Given the description of an element on the screen output the (x, y) to click on. 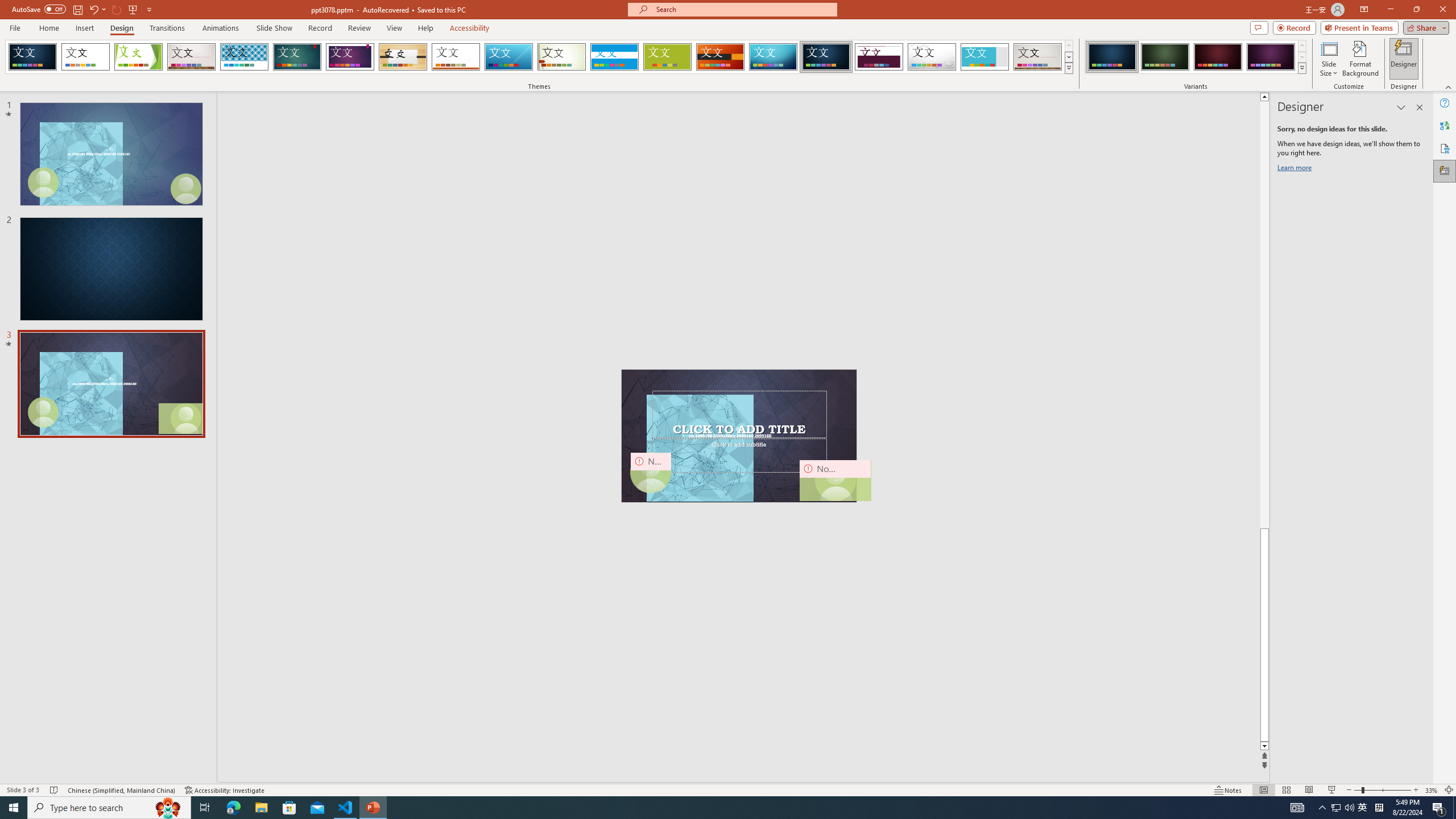
Damask Variant 1 (1112, 56)
Damask Variant 2 (1164, 56)
Damask Variant 3 (1217, 56)
Camera 9, No camera detected. (650, 472)
